Given the description of an element on the screen output the (x, y) to click on. 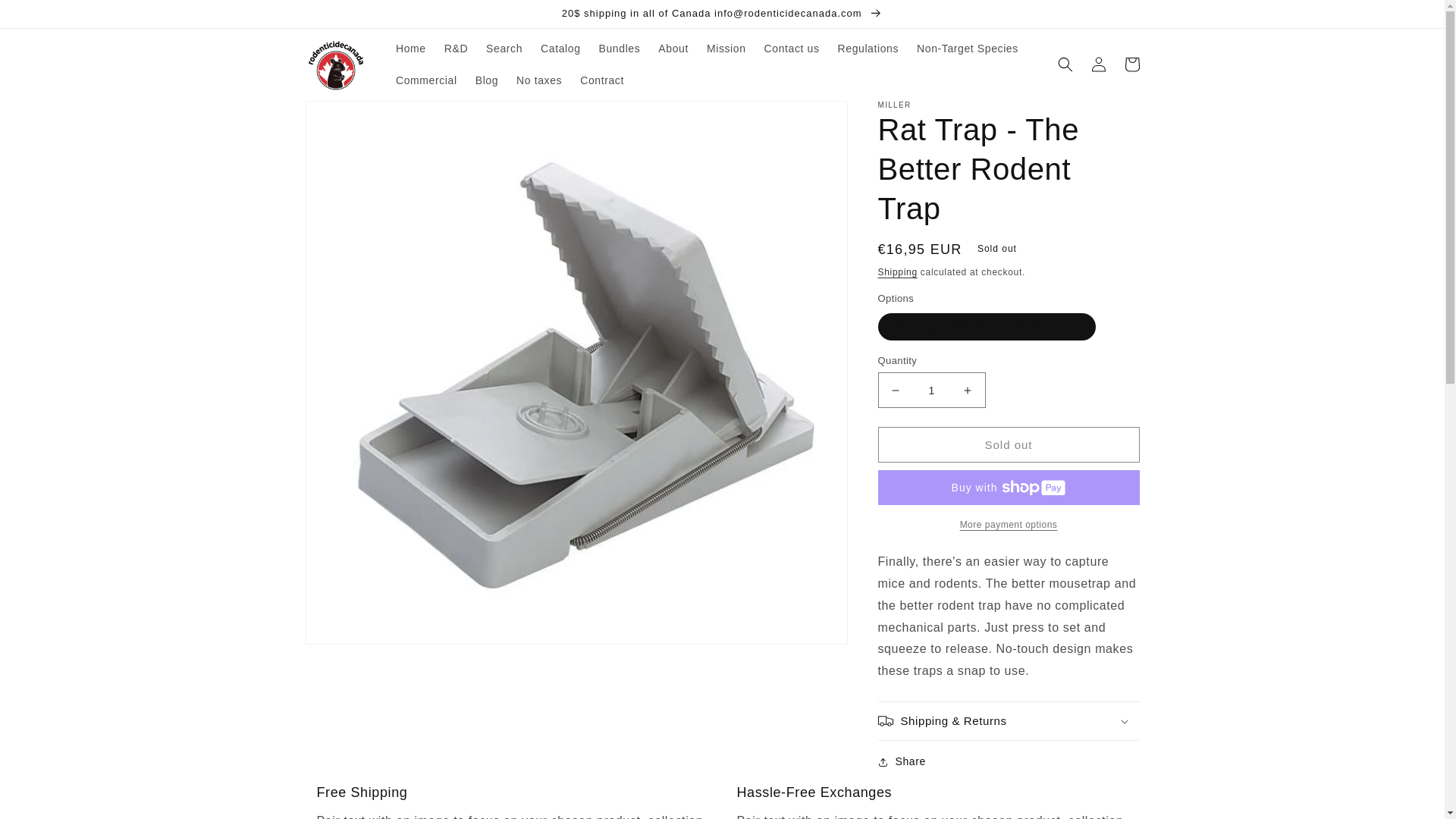
No taxes (538, 80)
Regulations (868, 48)
Bundles (619, 48)
Skip to content (45, 17)
Home (411, 48)
1 (931, 389)
Blog (485, 80)
Contact us (791, 48)
Search (504, 48)
Log in (1098, 64)
Catalog (560, 48)
About (673, 48)
Cart (1131, 64)
Non-Target Species (967, 48)
